Given the description of an element on the screen output the (x, y) to click on. 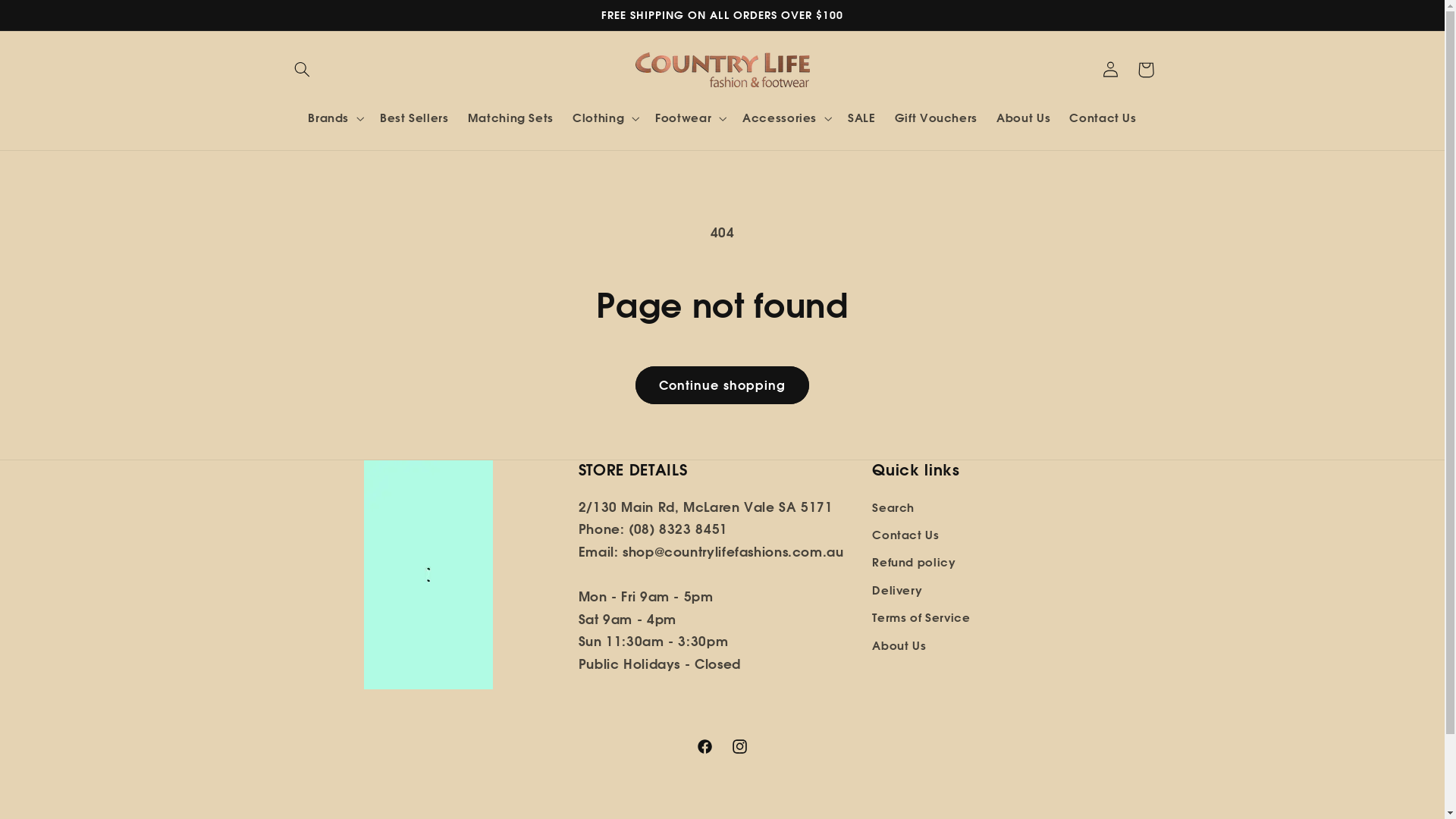
Terms of Service Element type: text (920, 617)
Instagram Element type: text (738, 746)
Search Element type: text (893, 509)
Facebook Element type: text (704, 746)
Matching Sets Element type: text (510, 117)
Refund policy Element type: text (913, 562)
About Us Element type: text (1023, 117)
Cart Element type: text (1145, 69)
Contact Us Element type: text (1103, 117)
Continue shopping Element type: text (722, 384)
Best Sellers Element type: text (414, 117)
SALE Element type: text (860, 117)
Contact Us Element type: text (905, 535)
Log in Element type: text (1110, 69)
About Us Element type: text (898, 644)
Delivery Element type: text (897, 590)
Gift Vouchers Element type: text (935, 117)
